Given the description of an element on the screen output the (x, y) to click on. 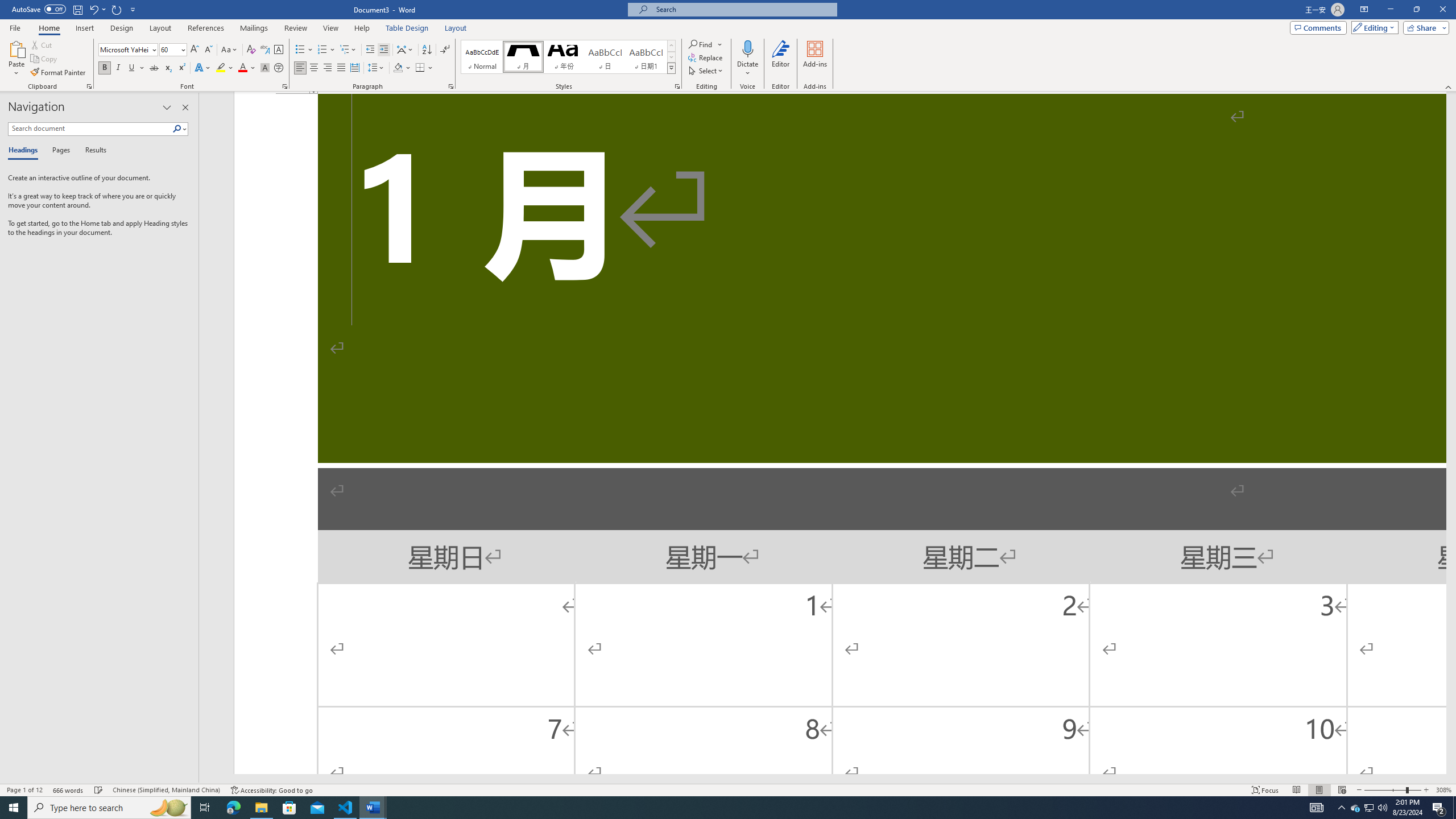
Word Count 666 words (68, 790)
